Given the description of an element on the screen output the (x, y) to click on. 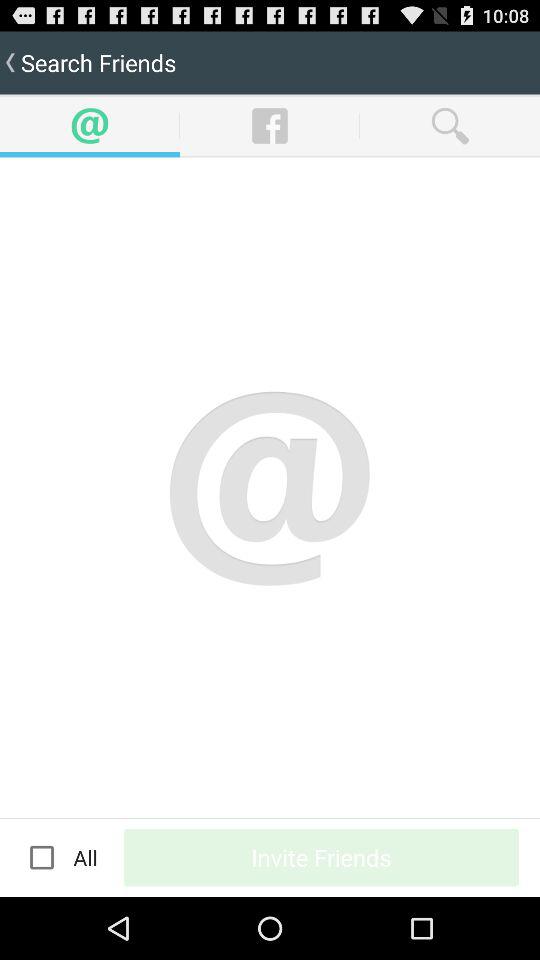
choose the item to the right of the all app (321, 857)
